Given the description of an element on the screen output the (x, y) to click on. 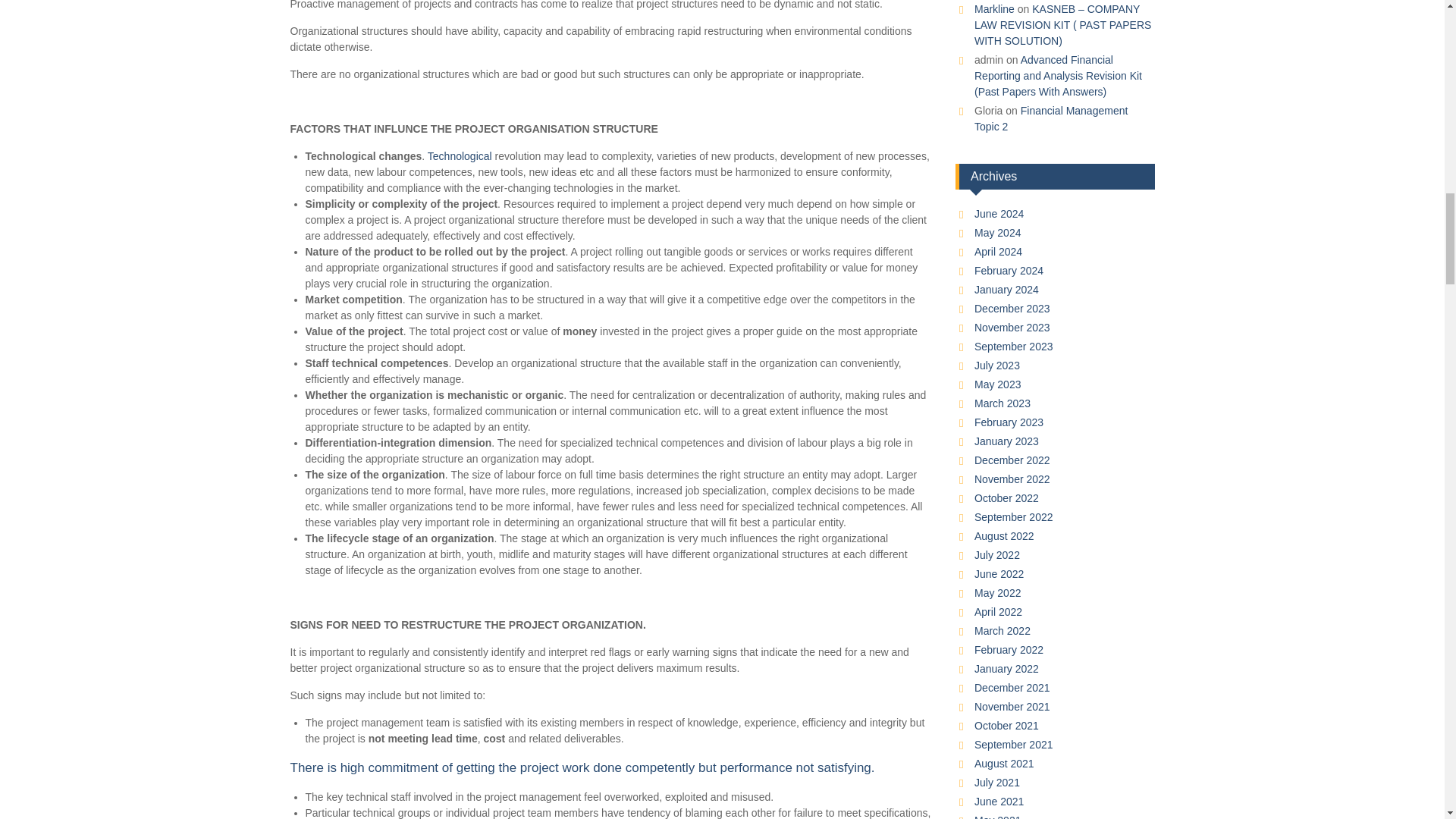
Technological (460, 155)
